Given the description of an element on the screen output the (x, y) to click on. 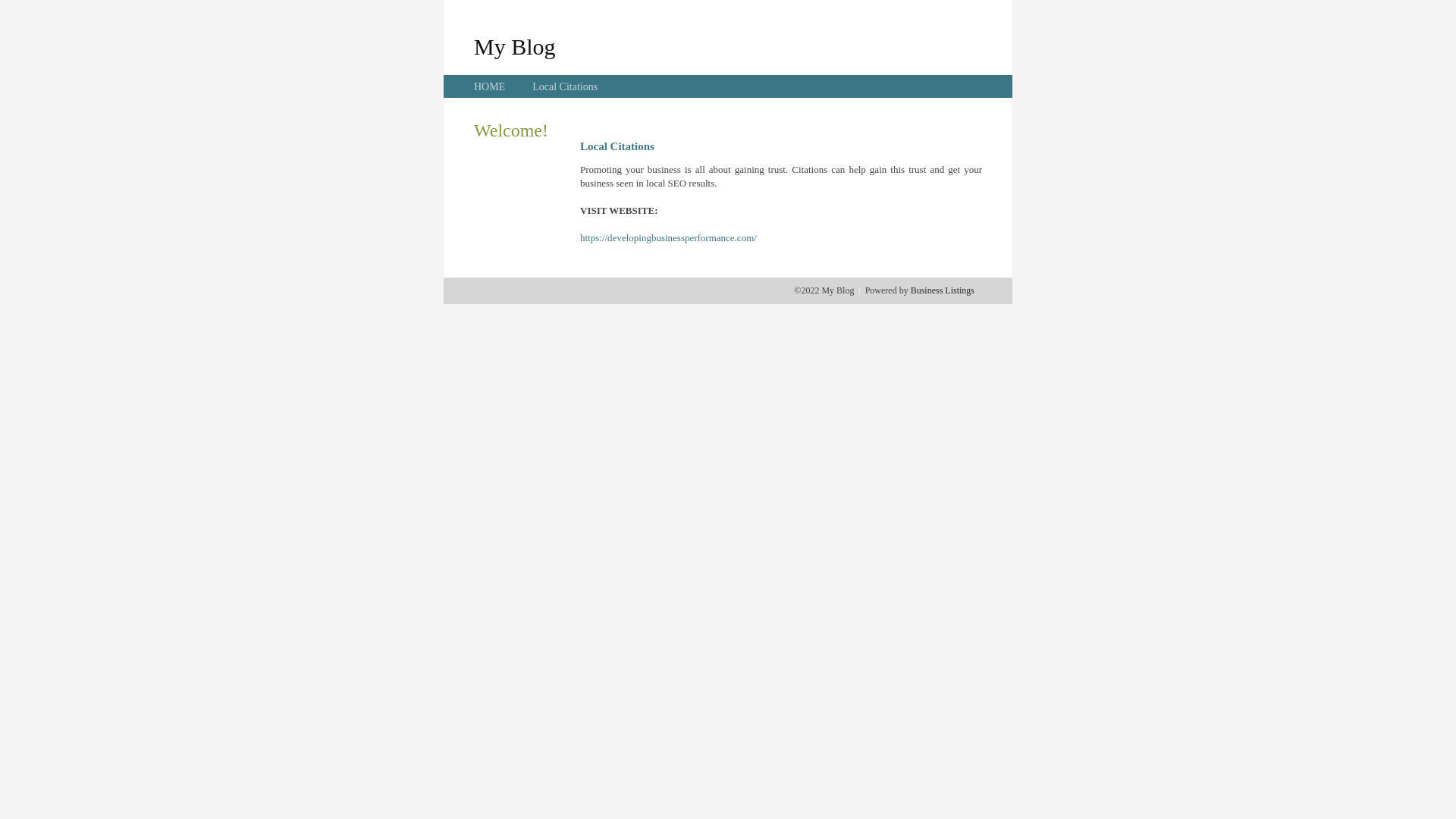
https://developingbusinessperformance.com/ Element type: text (668, 237)
Business Listings Element type: text (942, 290)
Local Citations Element type: text (564, 86)
My Blog Element type: text (514, 46)
HOME Element type: text (489, 86)
